Given the description of an element on the screen output the (x, y) to click on. 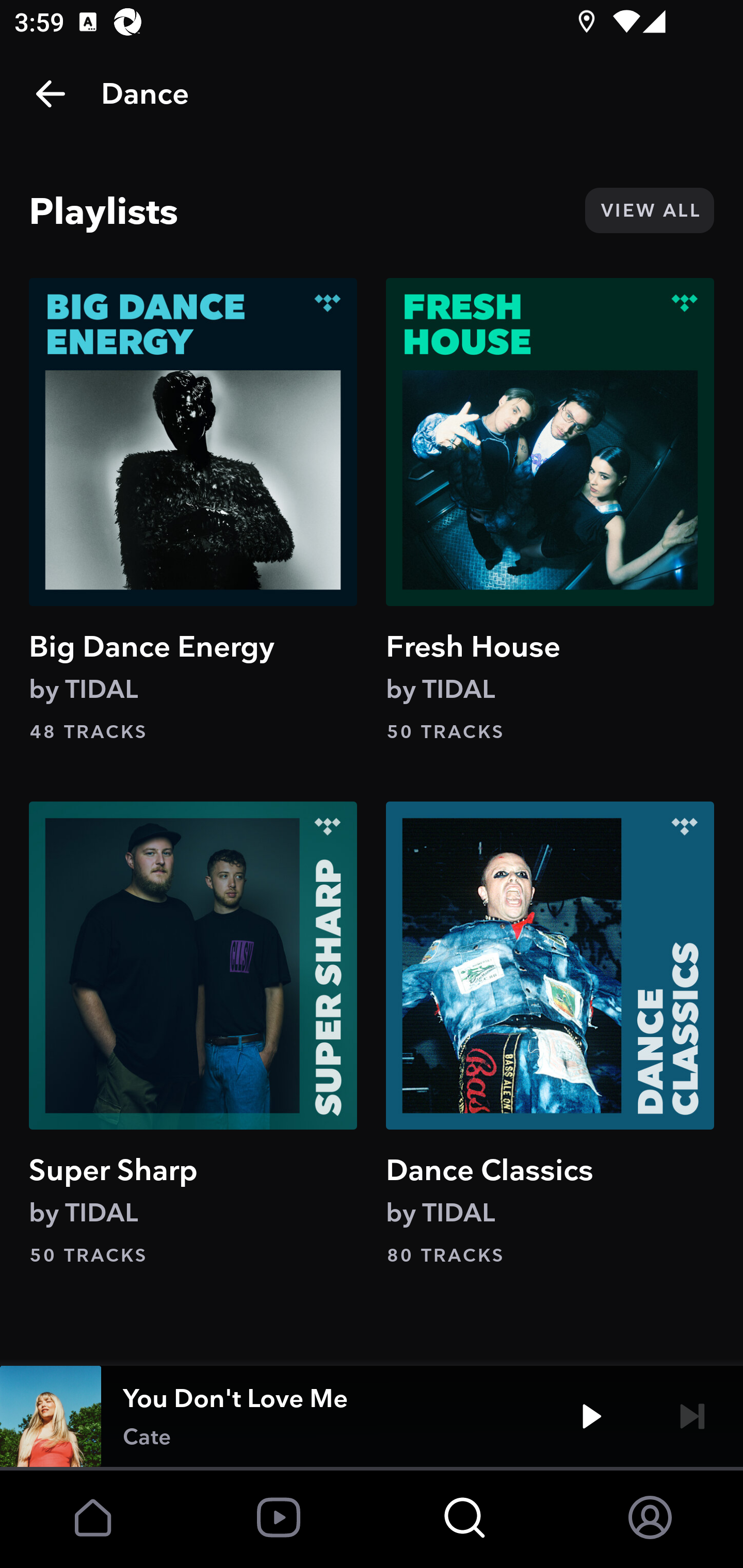
VIEW ALL (649, 210)
Big Dance Energy by TIDAL 48 TRACKS (192, 510)
Fresh House by TIDAL 50 TRACKS (549, 510)
Super Sharp by TIDAL 50 TRACKS (192, 1033)
Dance Classics by TIDAL 80 TRACKS (549, 1033)
You Don't Love Me Cate Play (371, 1416)
Play (590, 1416)
